Given the description of an element on the screen output the (x, y) to click on. 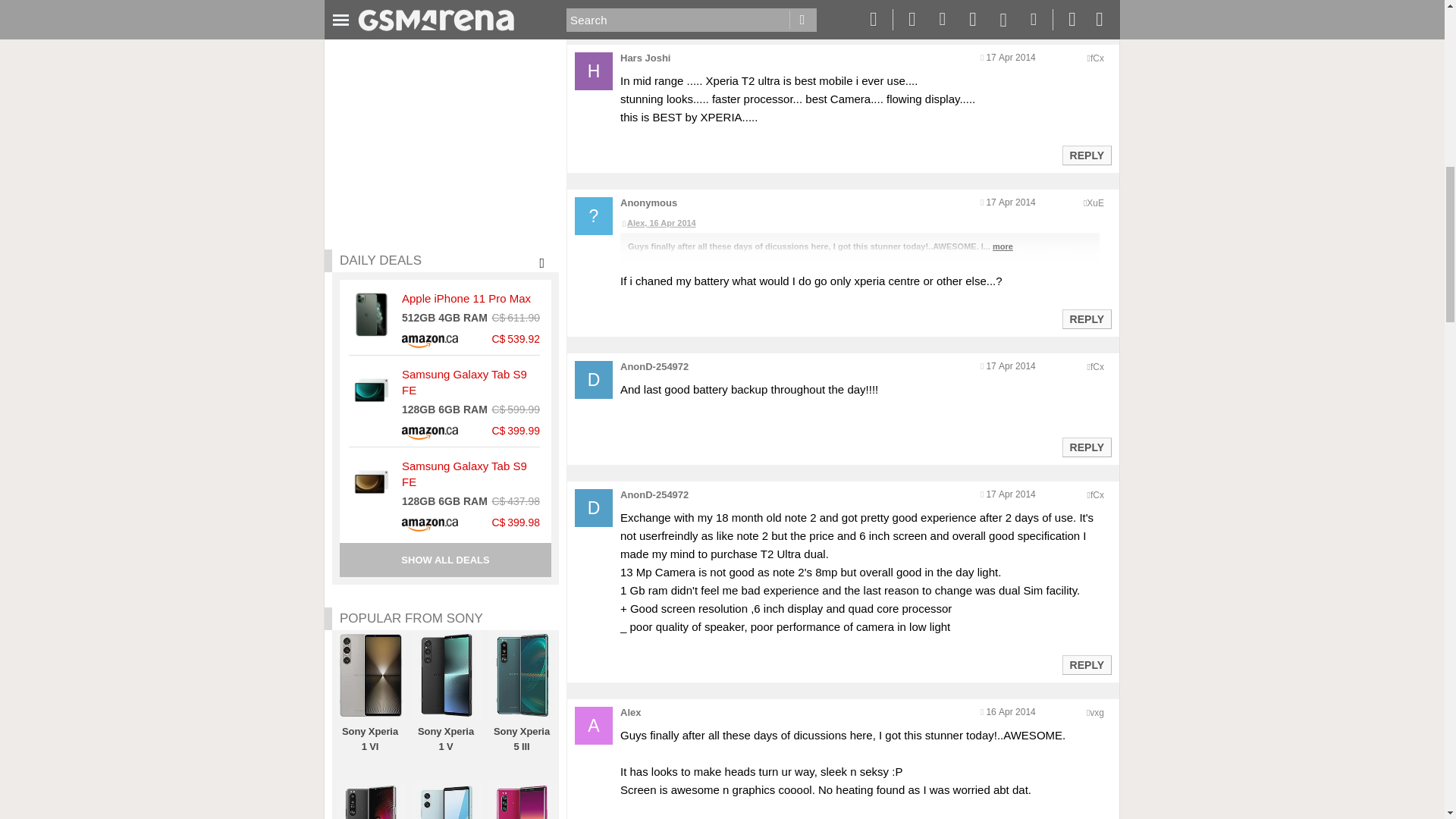
Encoded anonymized location (1096, 58)
Reply to this post (1086, 664)
Reply to this post (1086, 447)
Reply to this post (1086, 155)
Encoded anonymized location (1096, 712)
Encoded anonymized location (1096, 366)
Reply to this post (1086, 10)
Encoded anonymized location (1094, 203)
Reply to this post (1086, 318)
Encoded anonymized location (1096, 494)
